Given the description of an element on the screen output the (x, y) to click on. 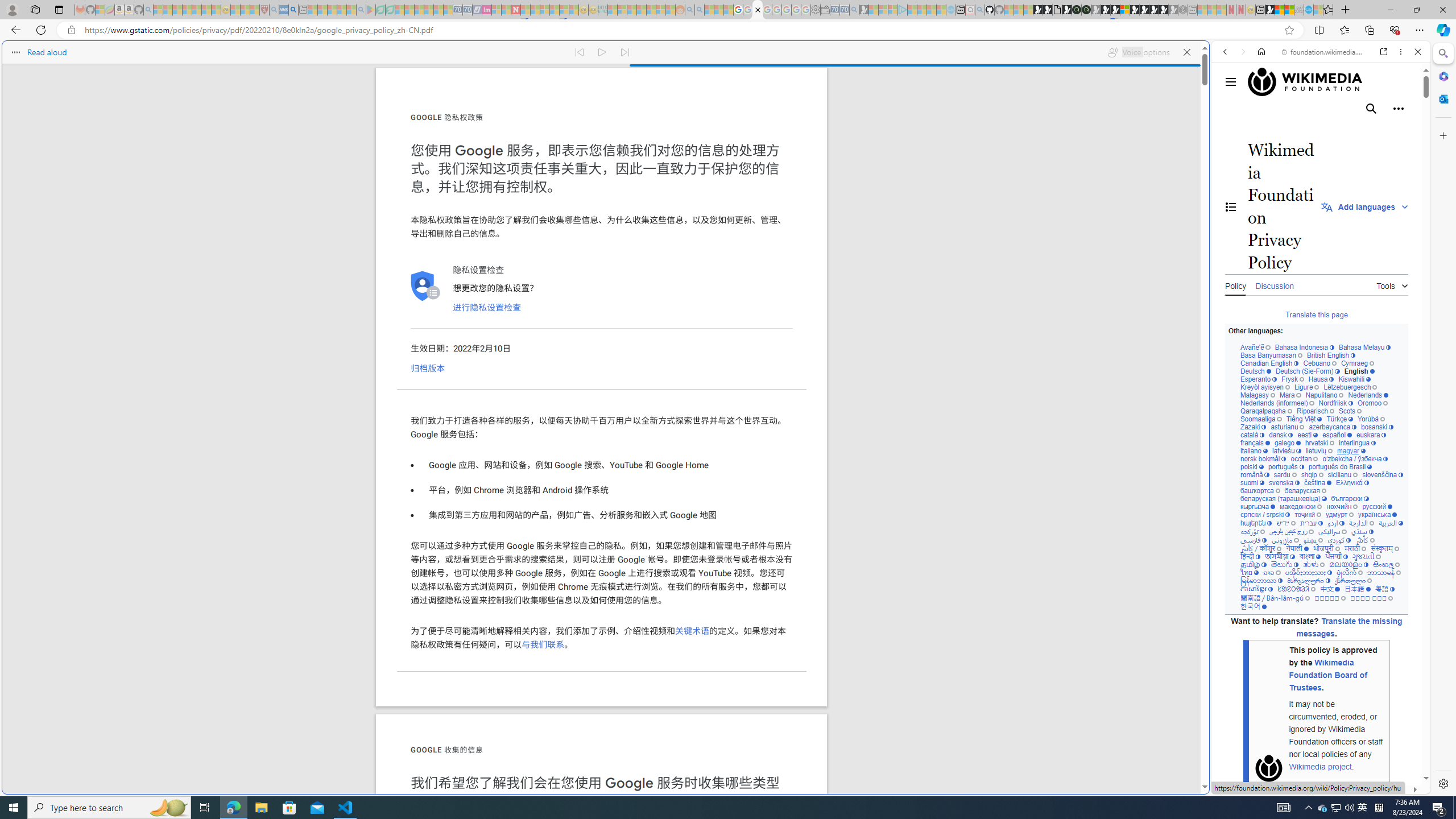
Deutsch (1255, 371)
